Given the description of an element on the screen output the (x, y) to click on. 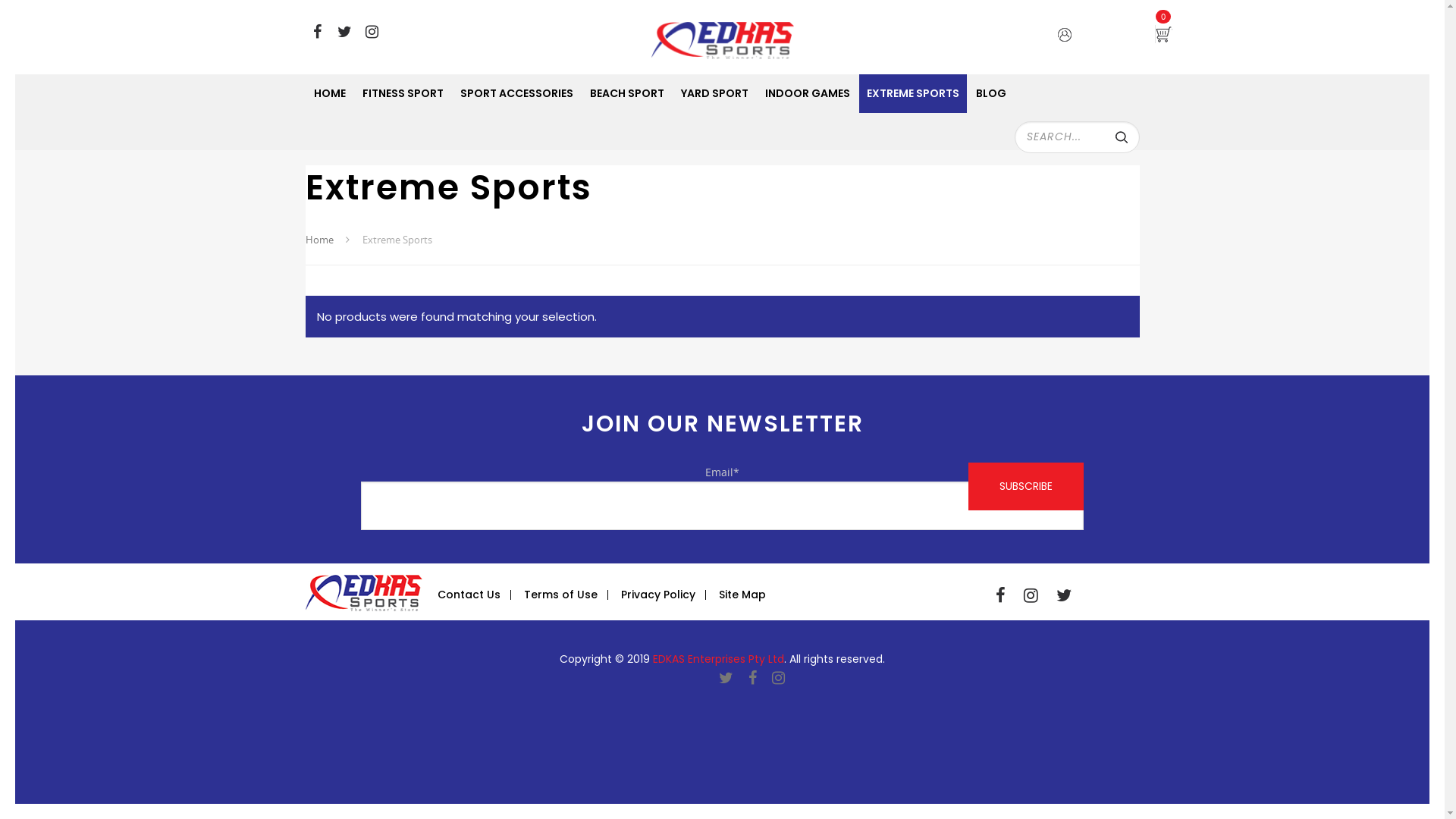
EXTREME SPORTS Element type: text (912, 93)
HOME Element type: text (329, 93)
BEACH SPORT Element type: text (626, 93)
Site Map Element type: text (741, 594)
Search for: Element type: hover (1076, 137)
Subscribe Element type: text (1025, 486)
YARD SPORT Element type: text (714, 93)
Contact Us Element type: text (468, 594)
INDOOR GAMES Element type: text (806, 93)
BLOG Element type: text (990, 93)
FITNESS SPORT Element type: text (402, 93)
Privacy Policy Element type: text (658, 594)
Home Element type: text (318, 239)
SPORT ACCESSORIES Element type: text (515, 93)
Terms of Use Element type: text (560, 594)
0 Element type: text (1181, 34)
Search Element type: text (1122, 138)
